Given the description of an element on the screen output the (x, y) to click on. 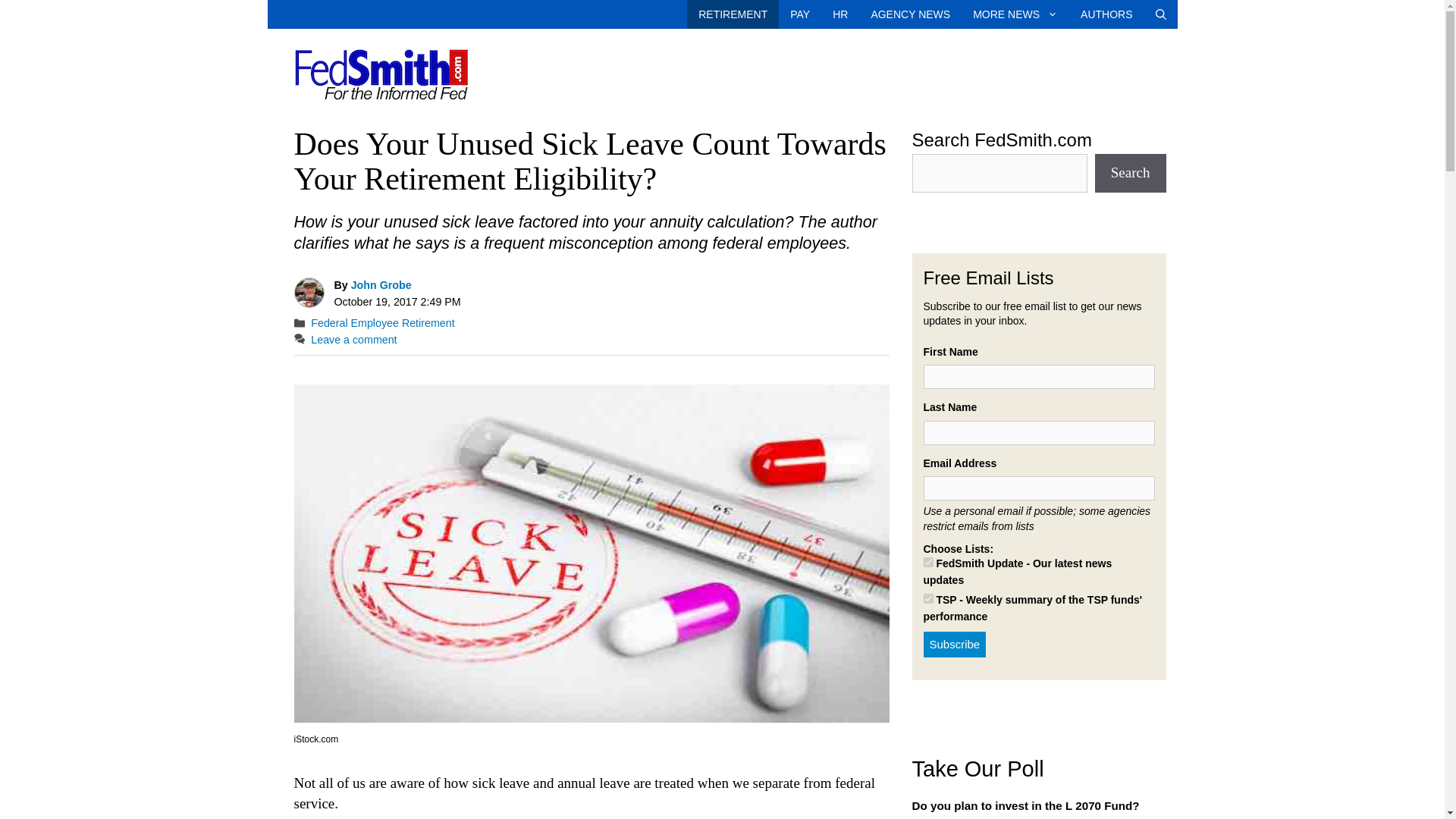
Search (1130, 172)
Subscribe (955, 644)
1 (928, 562)
AGENCY NEWS (909, 14)
Leave a comment (353, 339)
AUTHORS (1105, 14)
MORE NEWS (1014, 14)
Subscribe (955, 644)
RETIREMENT (732, 14)
Federal Employee Retirement News (732, 14)
Federal Employee Pay and Benefits News (799, 14)
Federal Employee Retirement (382, 322)
Federal Human Resources News (840, 14)
View all articles by John Grobe (381, 285)
PAY (799, 14)
